Given the description of an element on the screen output the (x, y) to click on. 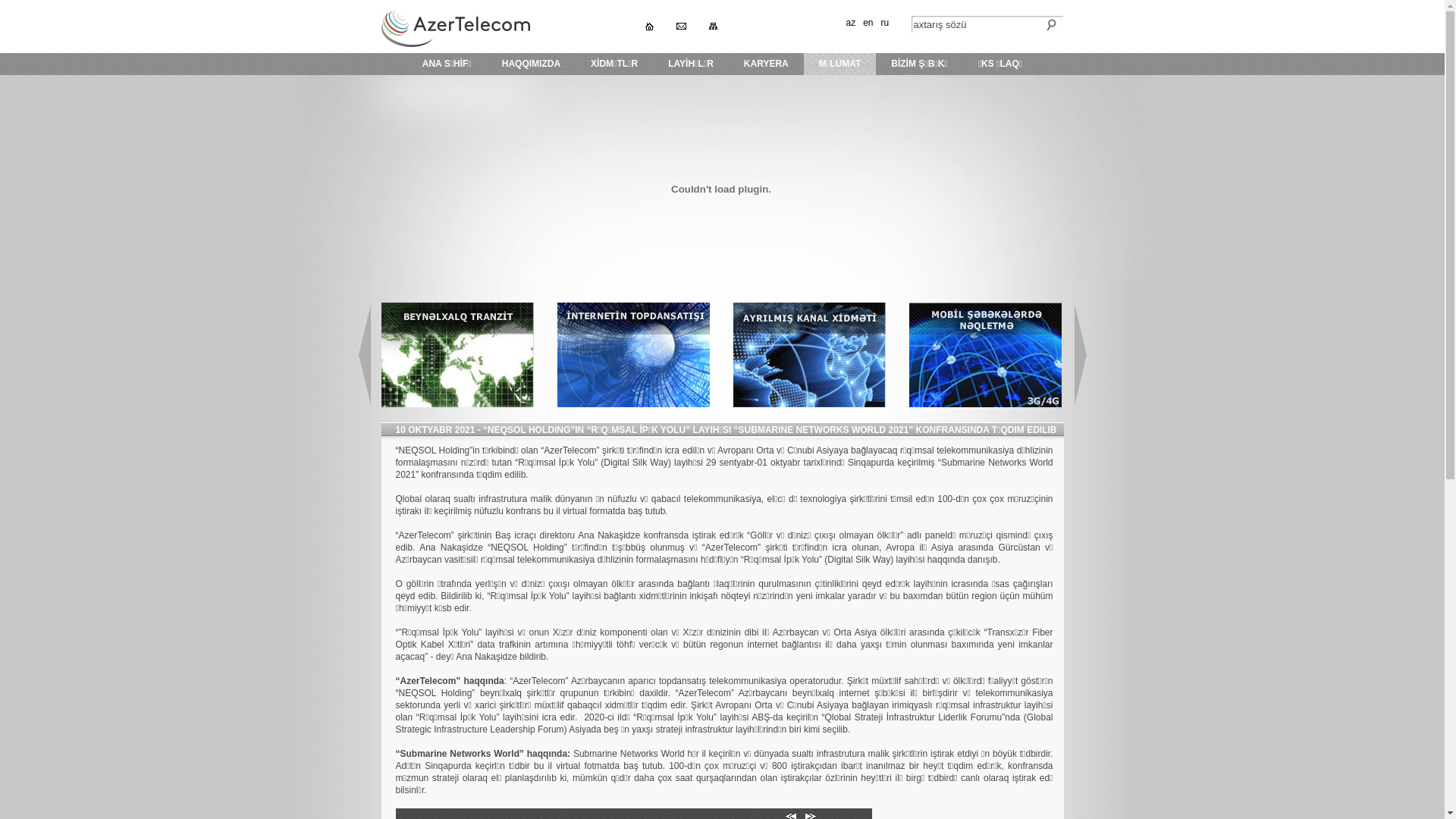
HAQQIMIZDA Element type: text (530, 65)
az Element type: text (851, 22)
ru Element type: text (885, 22)
en Element type: text (867, 22)
KARYERA Element type: text (765, 65)
